Given the description of an element on the screen output the (x, y) to click on. 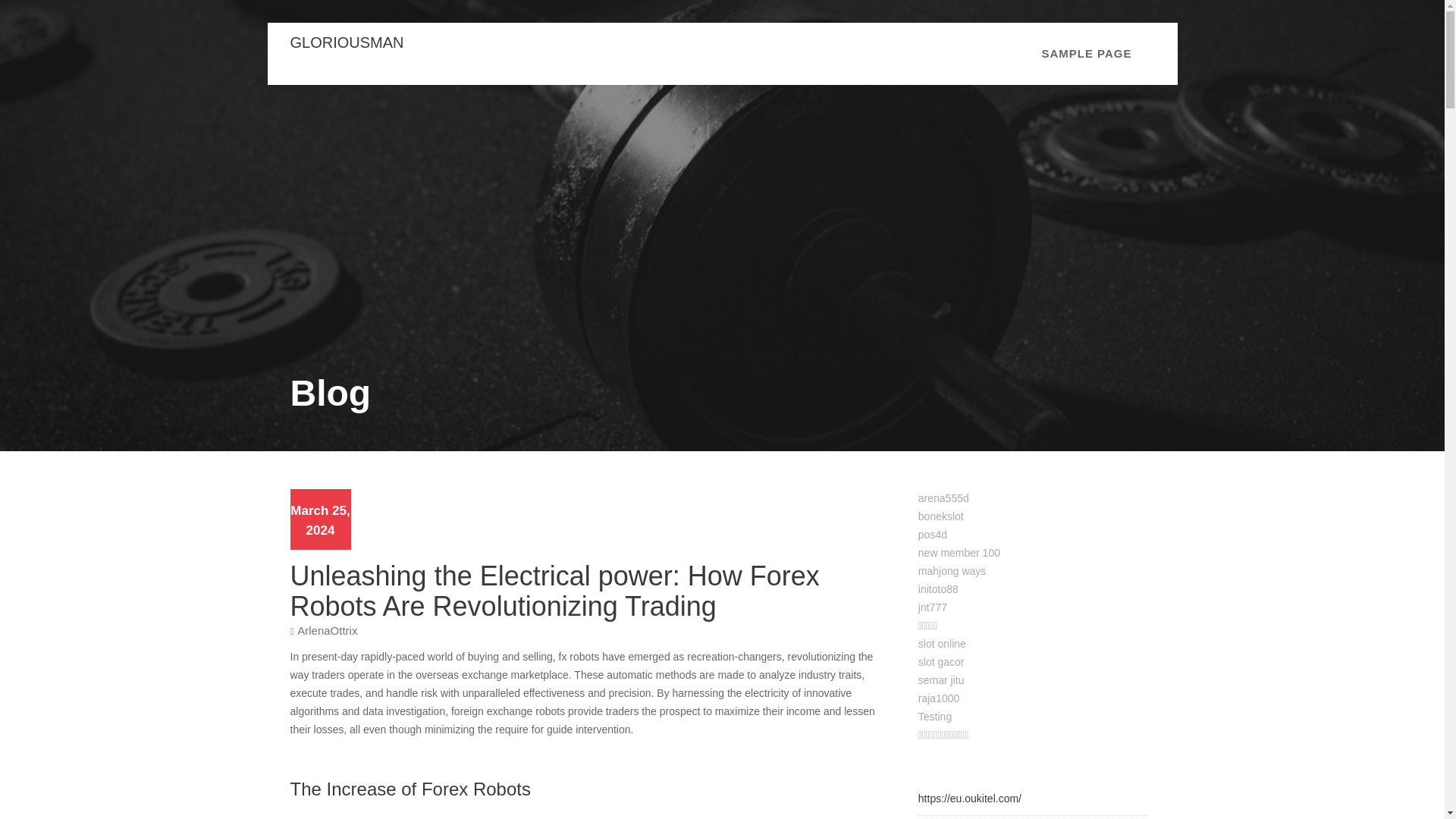
ArlenaOttrix (326, 629)
Testing (935, 716)
slot online (942, 644)
slot gacor (940, 662)
raja1000 (938, 698)
bonekslot (940, 516)
GLORIOUSMAN (346, 42)
arena555d (943, 498)
jnt777 (932, 607)
mahjong ways (952, 571)
new member 100 (959, 552)
semar jitu (940, 680)
gloriousman (346, 42)
SAMPLE PAGE (1085, 53)
